Given the description of an element on the screen output the (x, y) to click on. 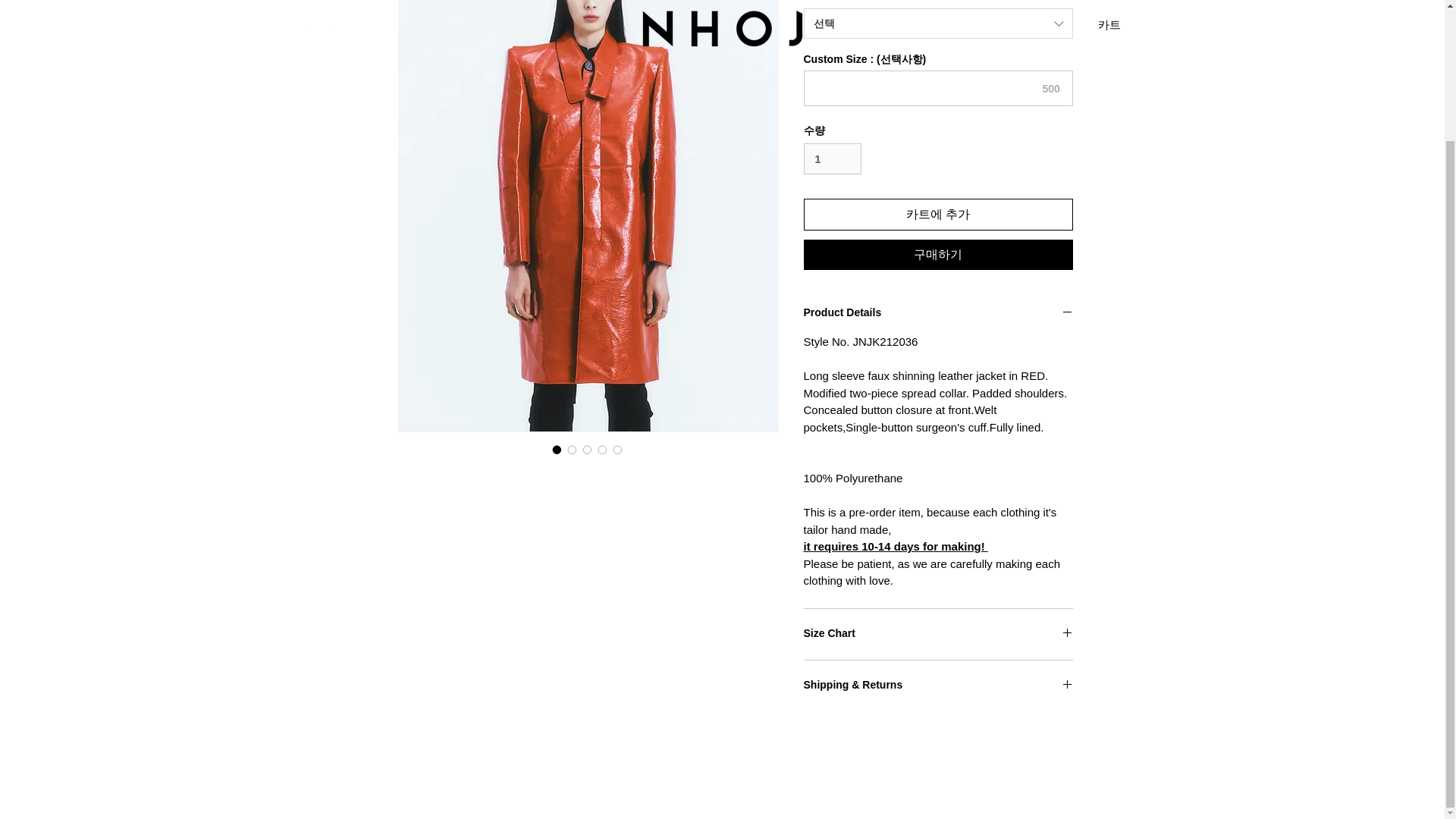
Product Details (938, 313)
Size Chart (938, 634)
1 (832, 158)
